Given the description of an element on the screen output the (x, y) to click on. 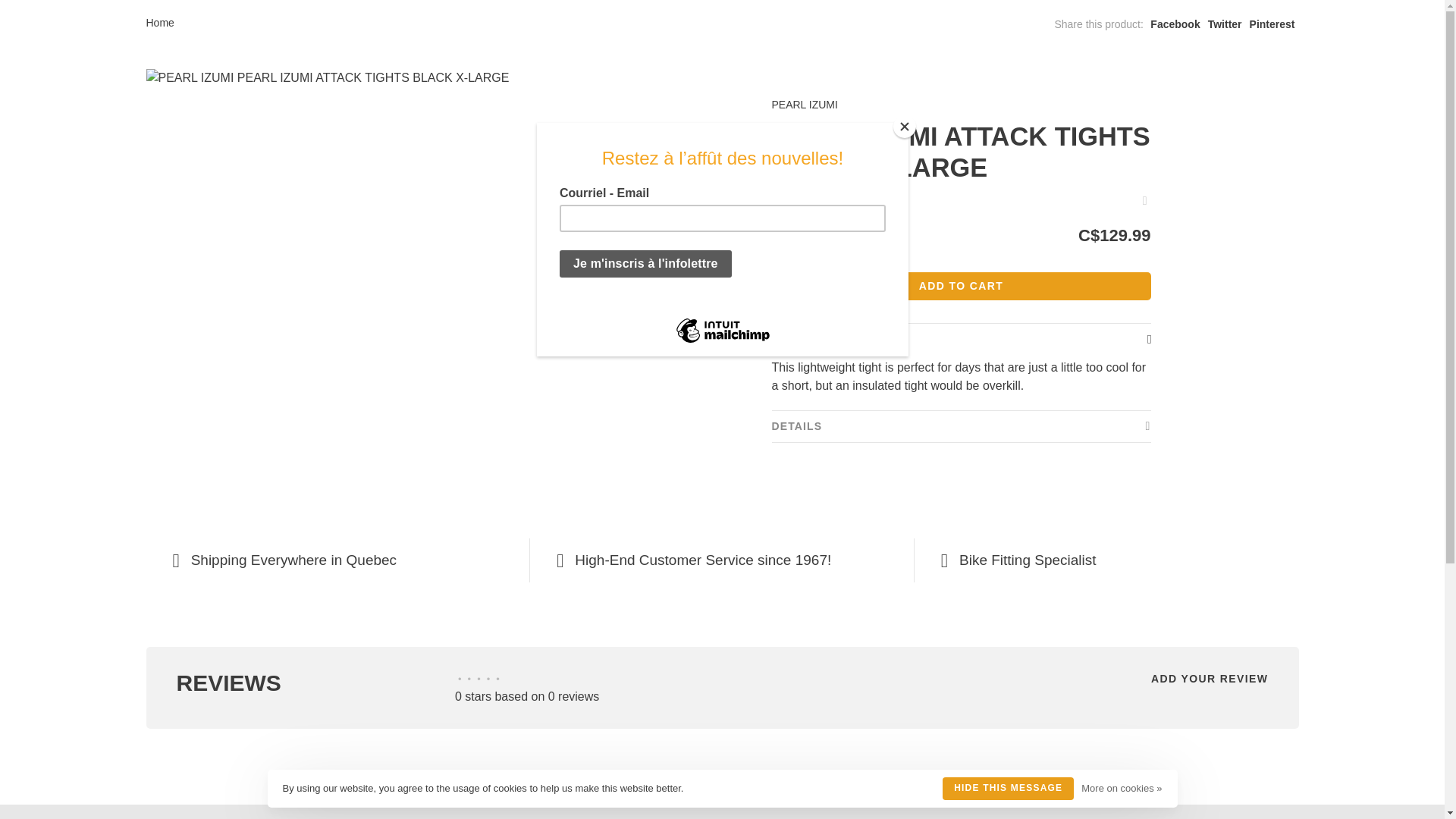
1 (856, 241)
